Given the description of an element on the screen output the (x, y) to click on. 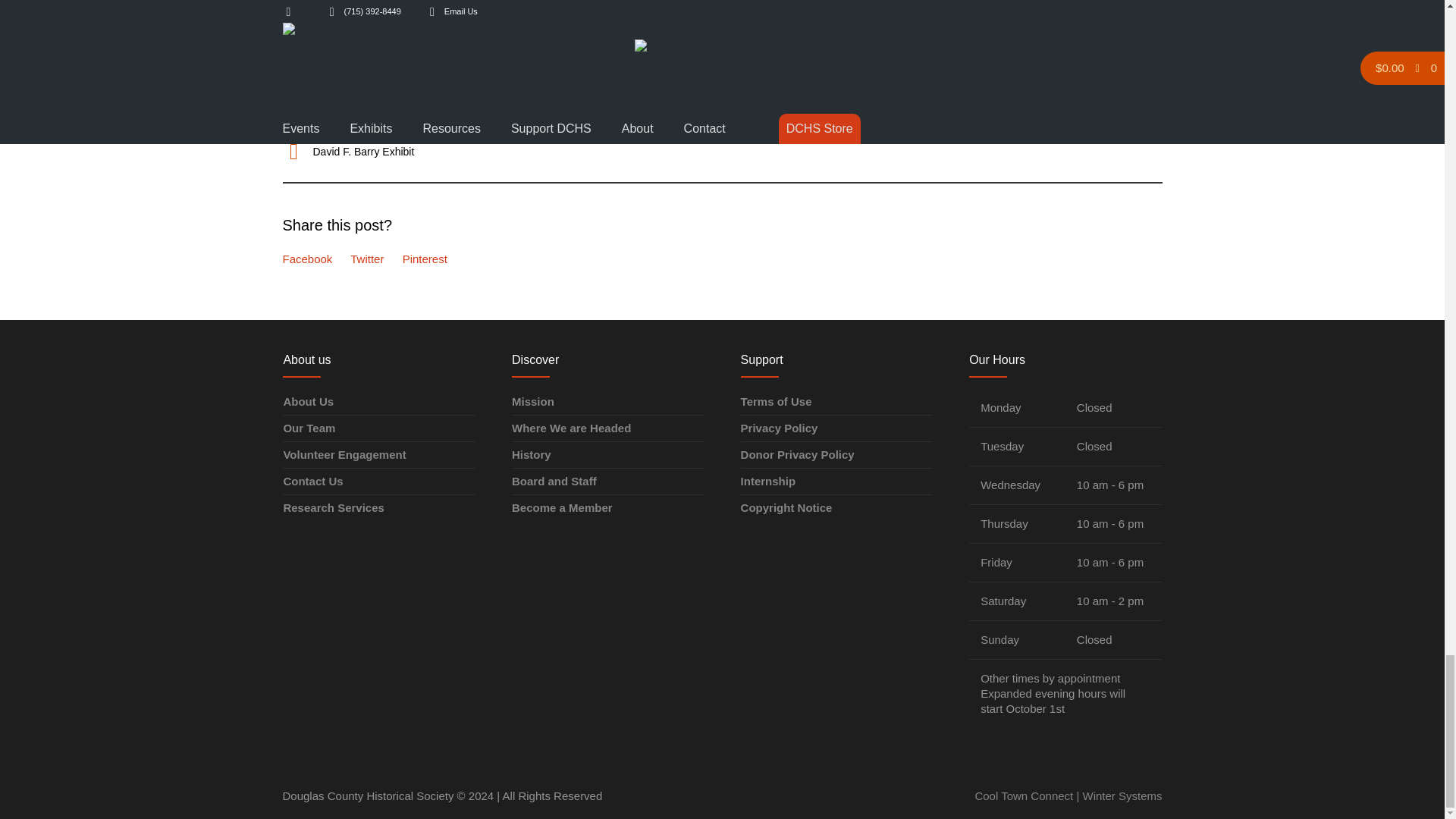
Facebook (306, 258)
David F. Barry Exhibit (363, 151)
Twitter (367, 258)
